Given the description of an element on the screen output the (x, y) to click on. 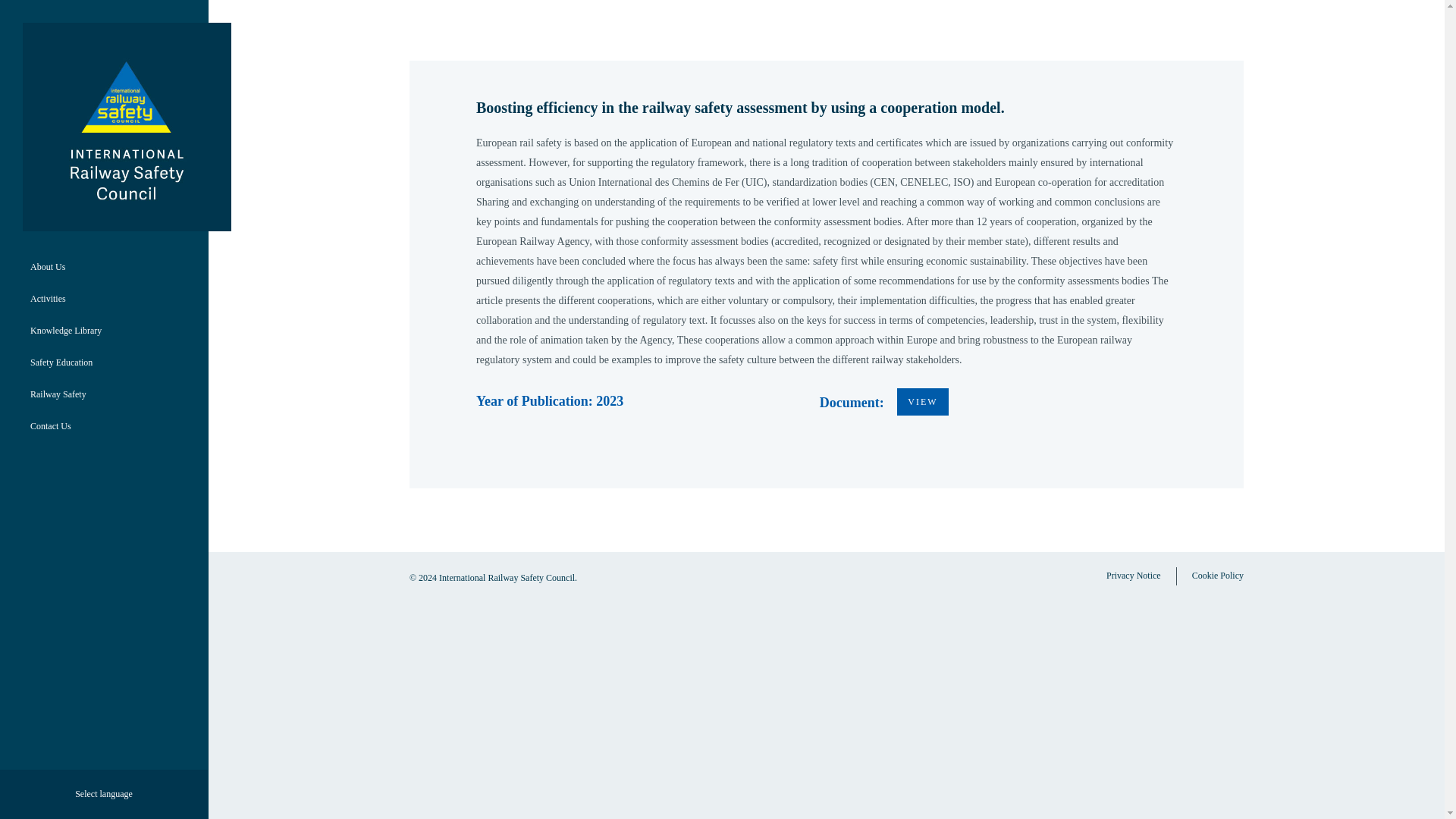
Railway Safety (58, 394)
Privacy Notice (1133, 576)
Safety Education (61, 362)
Contact Us (50, 426)
Activities (48, 298)
VIEW (921, 401)
Cookie Policy (1217, 576)
About Us (47, 266)
Knowledge Library (66, 330)
